Given the description of an element on the screen output the (x, y) to click on. 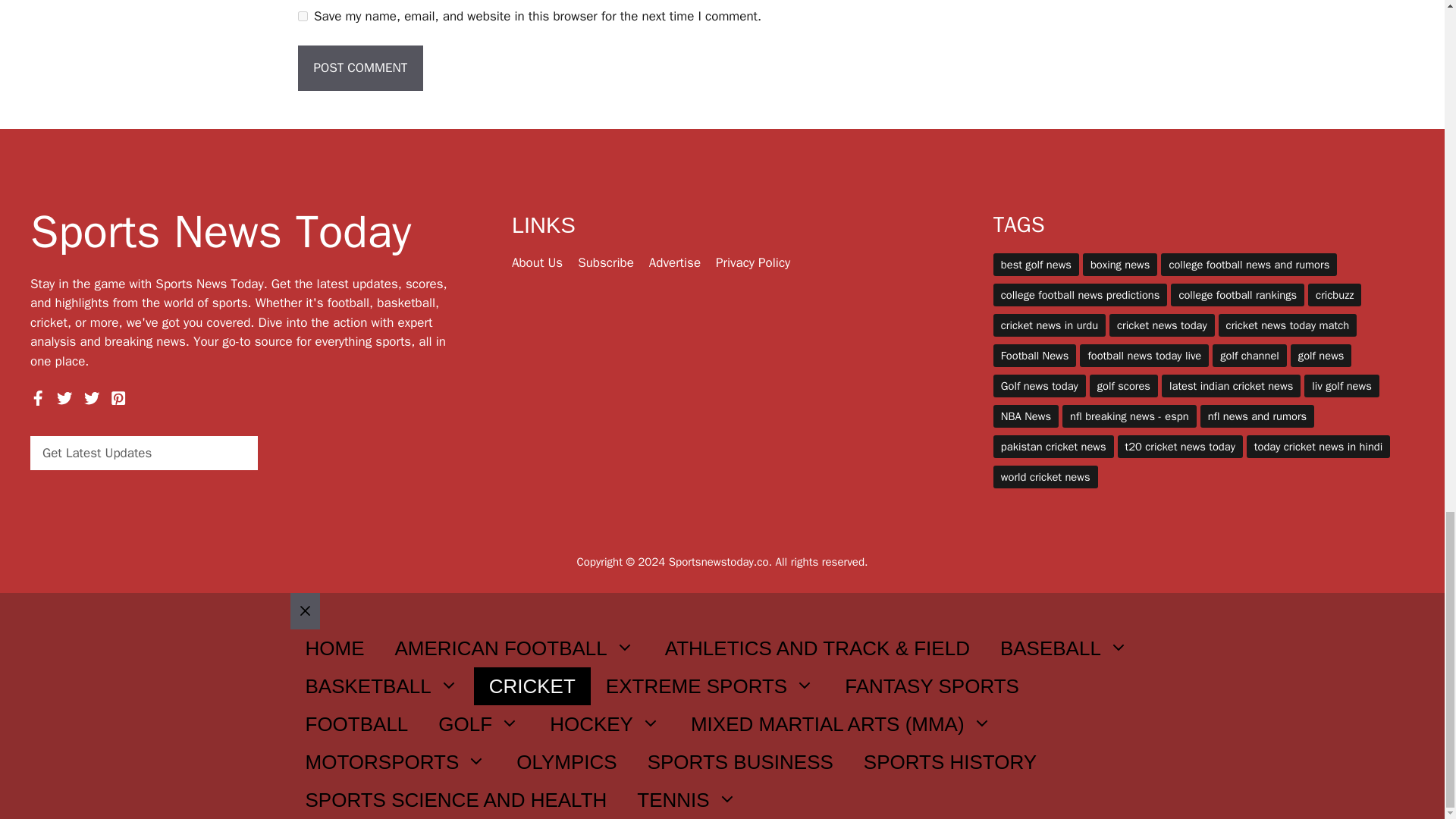
Advertise (674, 262)
About Us (537, 262)
best golf news (1035, 264)
yes (302, 16)
Post Comment (360, 67)
Post Comment (360, 67)
Privacy Policy (753, 262)
Subscribe (605, 262)
